Given the description of an element on the screen output the (x, y) to click on. 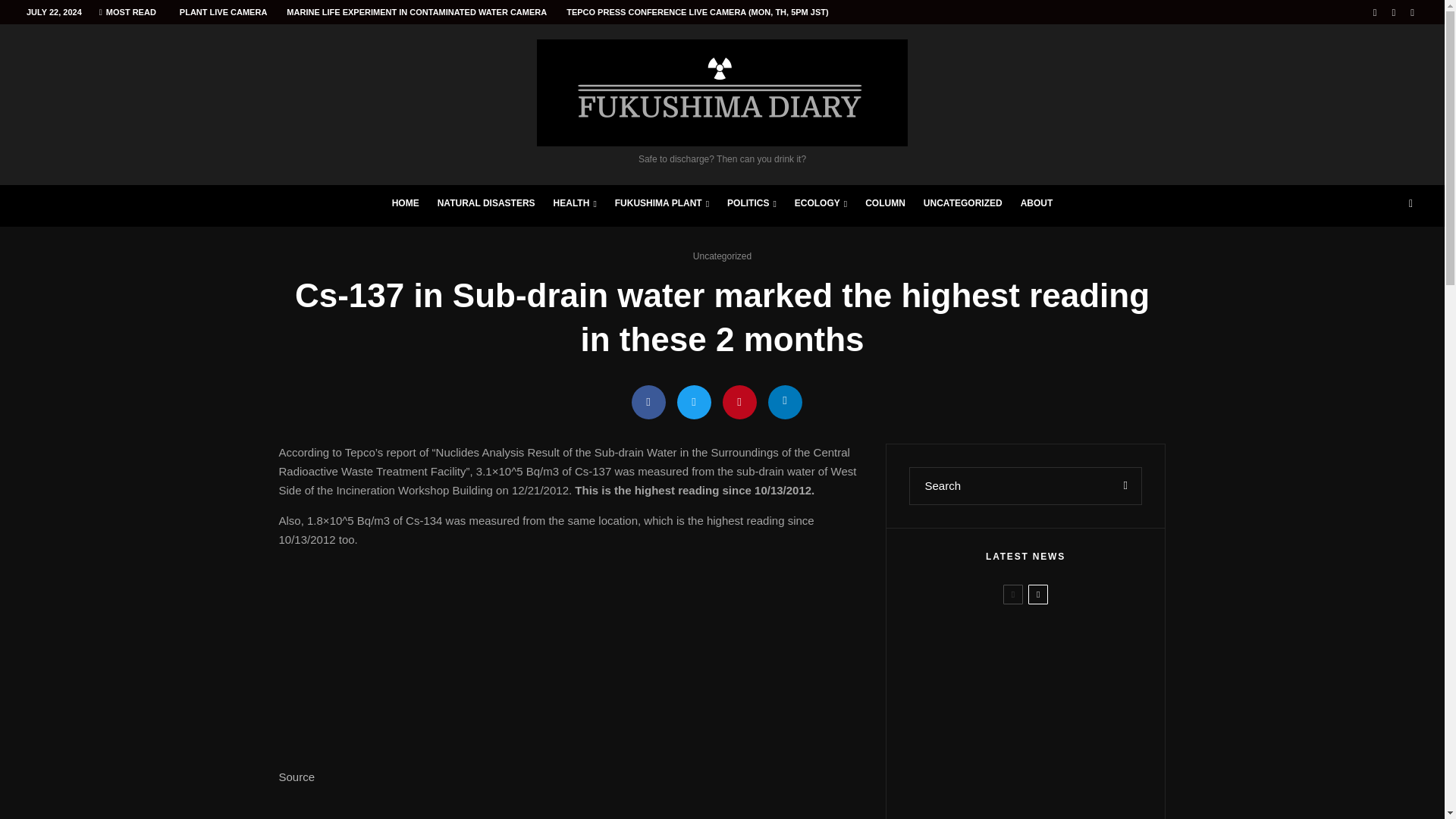
PLANT LIVE CAMERA (224, 12)
NATURAL DISASTERS (486, 205)
HEALTH (574, 205)
MARINE LIFE EXPERIMENT IN CONTAMINATED WATER CAMERA (416, 12)
Safe to discharge? Then can you drink it? (722, 102)
HOME (405, 205)
MOST READ (126, 12)
